Given the description of an element on the screen output the (x, y) to click on. 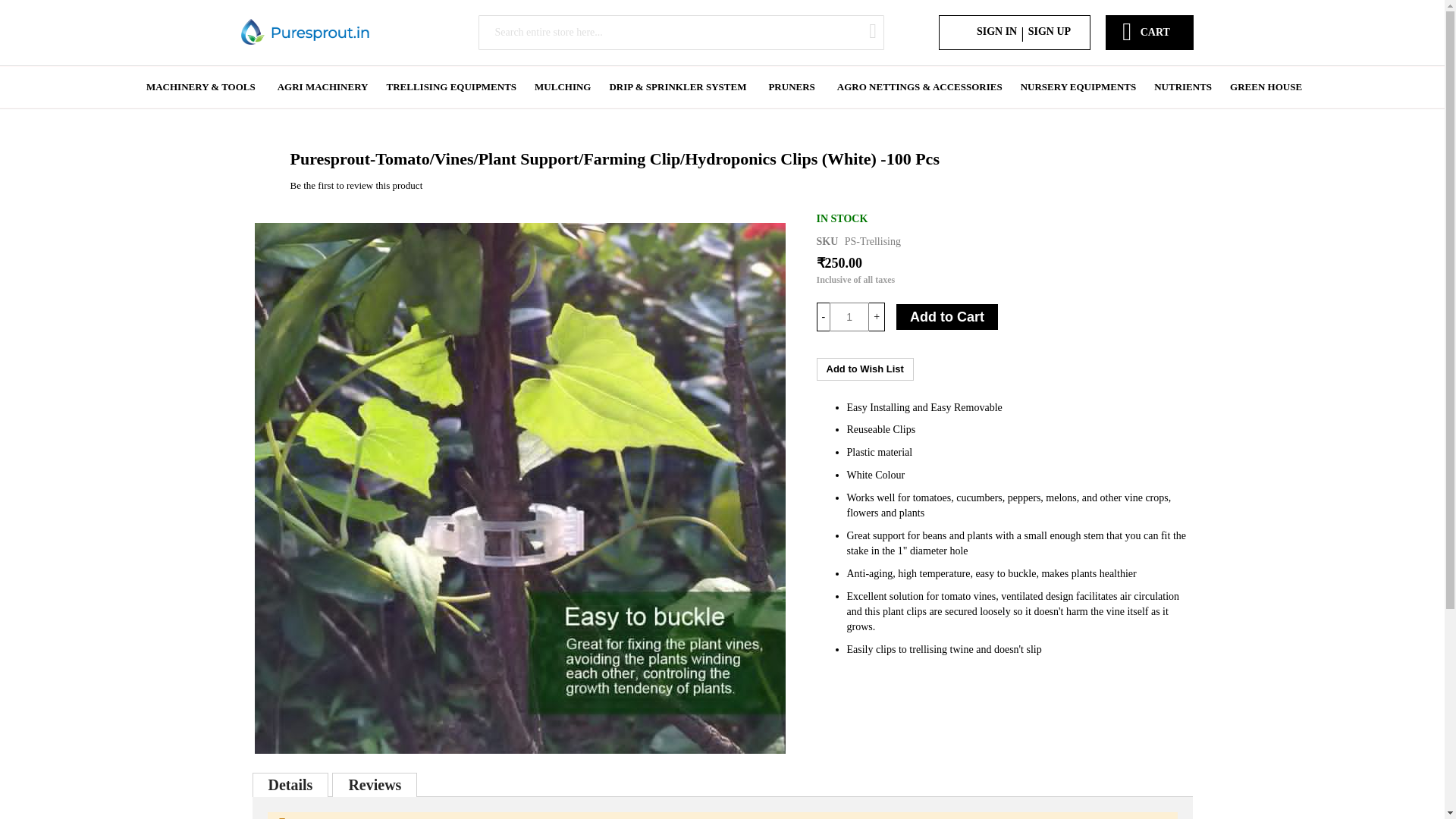
Availability (841, 218)
1 (849, 316)
MULCHING (562, 86)
CART (1155, 24)
SIGN UP (1048, 31)
AGRI MACHINERY (322, 86)
TRELLISING EQUIPMENTS (451, 86)
SIGN IN (996, 31)
PRUNERS (791, 86)
Qty (849, 316)
